Given the description of an element on the screen output the (x, y) to click on. 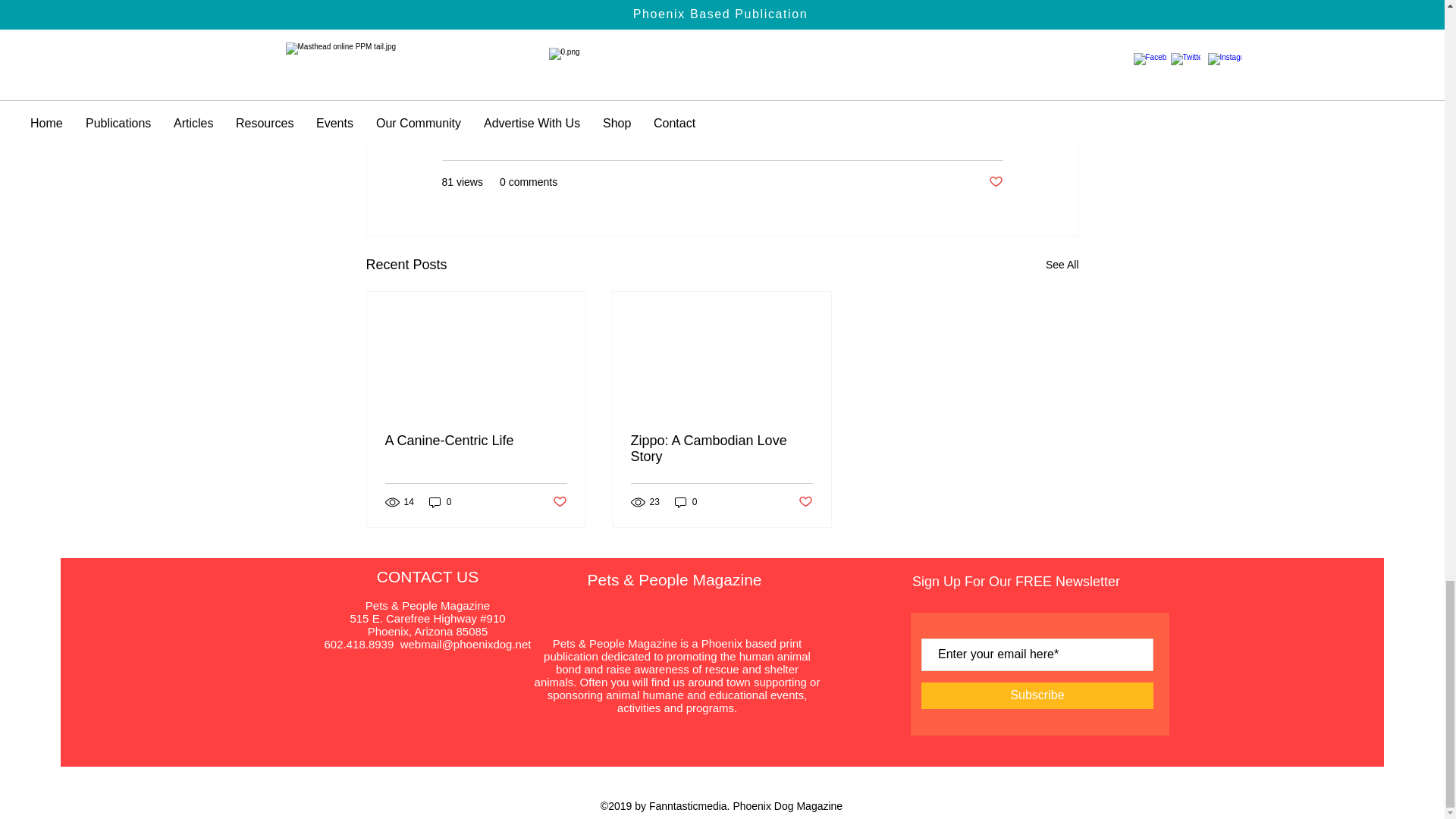
Post not marked as liked (995, 182)
See All (1061, 264)
Special Feature (965, 137)
A Canine-Centric Life (476, 440)
0 (440, 502)
